Given the description of an element on the screen output the (x, y) to click on. 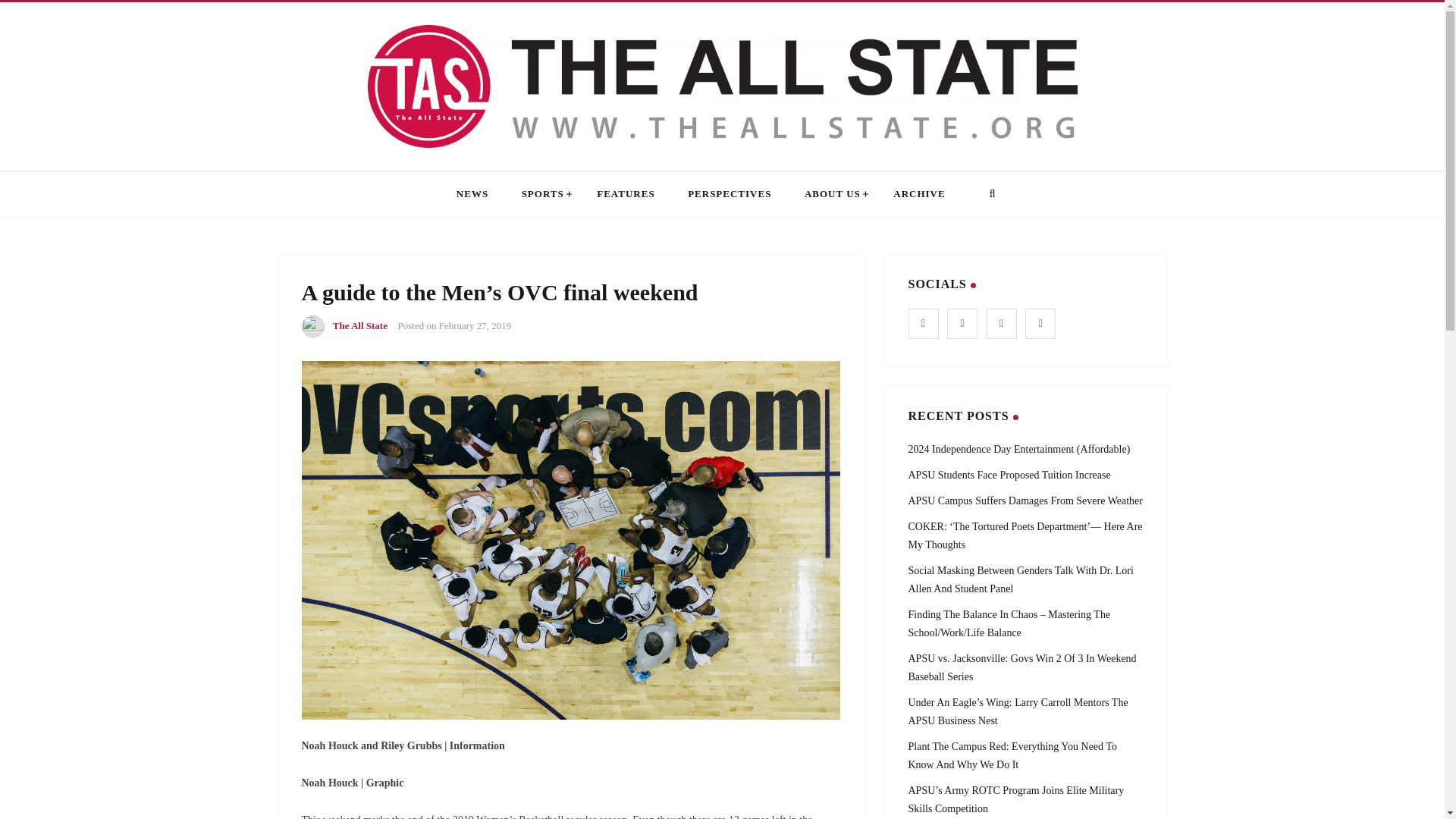
ARCHIVE (918, 194)
SPORTS (542, 194)
Features (624, 194)
Archive (918, 194)
Sports (542, 194)
ABOUT US (832, 194)
Perspectives (729, 194)
About Us (832, 194)
February 27, 2019 (475, 325)
FEATURES (624, 194)
The All State (360, 325)
PERSPECTIVES (729, 194)
